Given the description of an element on the screen output the (x, y) to click on. 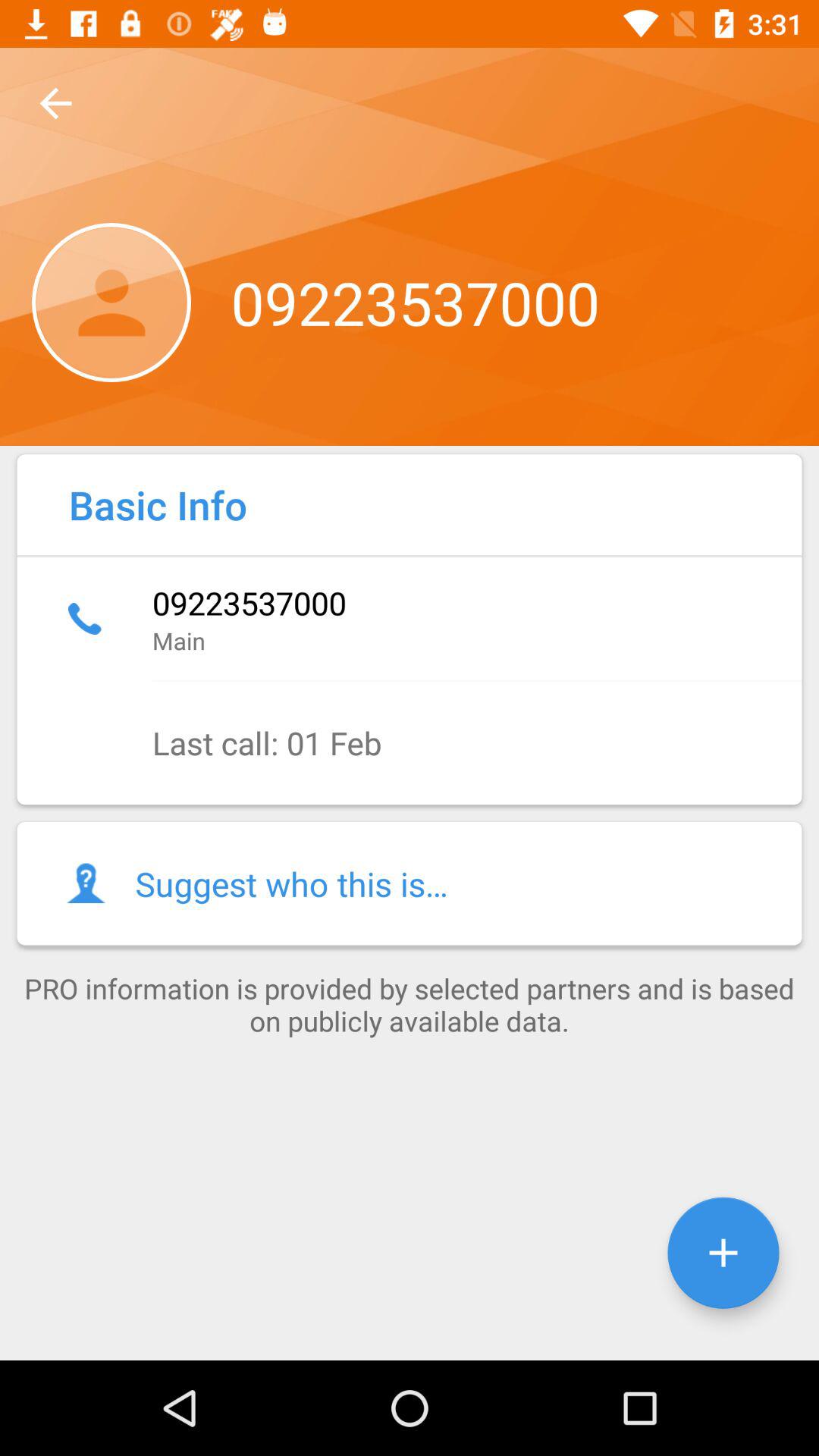
select the icon above the suggest who this item (409, 742)
